Given the description of an element on the screen output the (x, y) to click on. 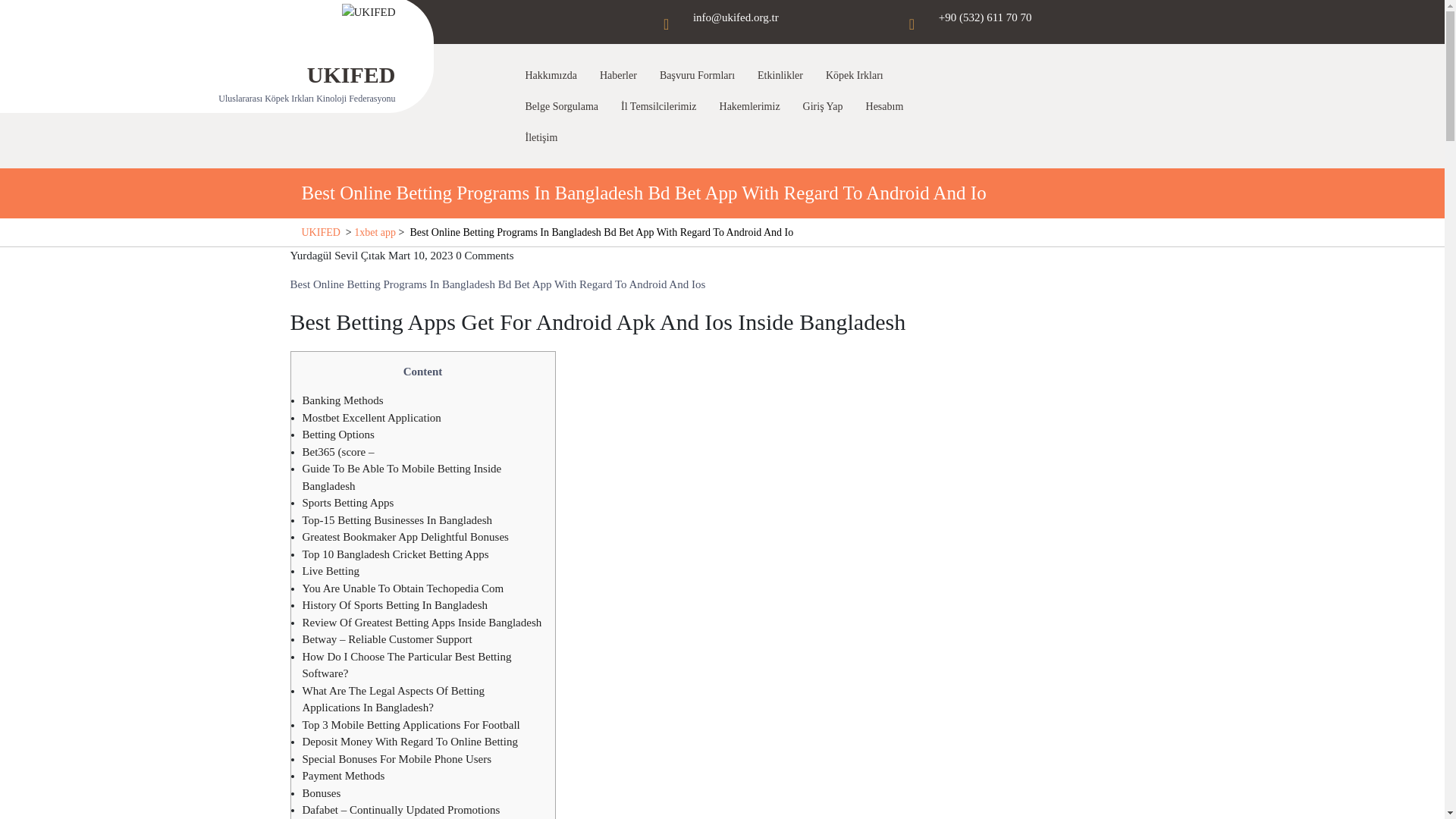
Belge Sorgulama (564, 106)
UKIFED (320, 232)
Etkinlikler (783, 74)
UKIFED (351, 74)
Banking Methods (341, 399)
Hakemlerimiz (752, 106)
Mostbet Excellent Application (371, 417)
Betting Options (337, 434)
1xbet app (374, 232)
Guide To Be Able To Mobile Betting Inside Bangladesh (400, 477)
